Given the description of an element on the screen output the (x, y) to click on. 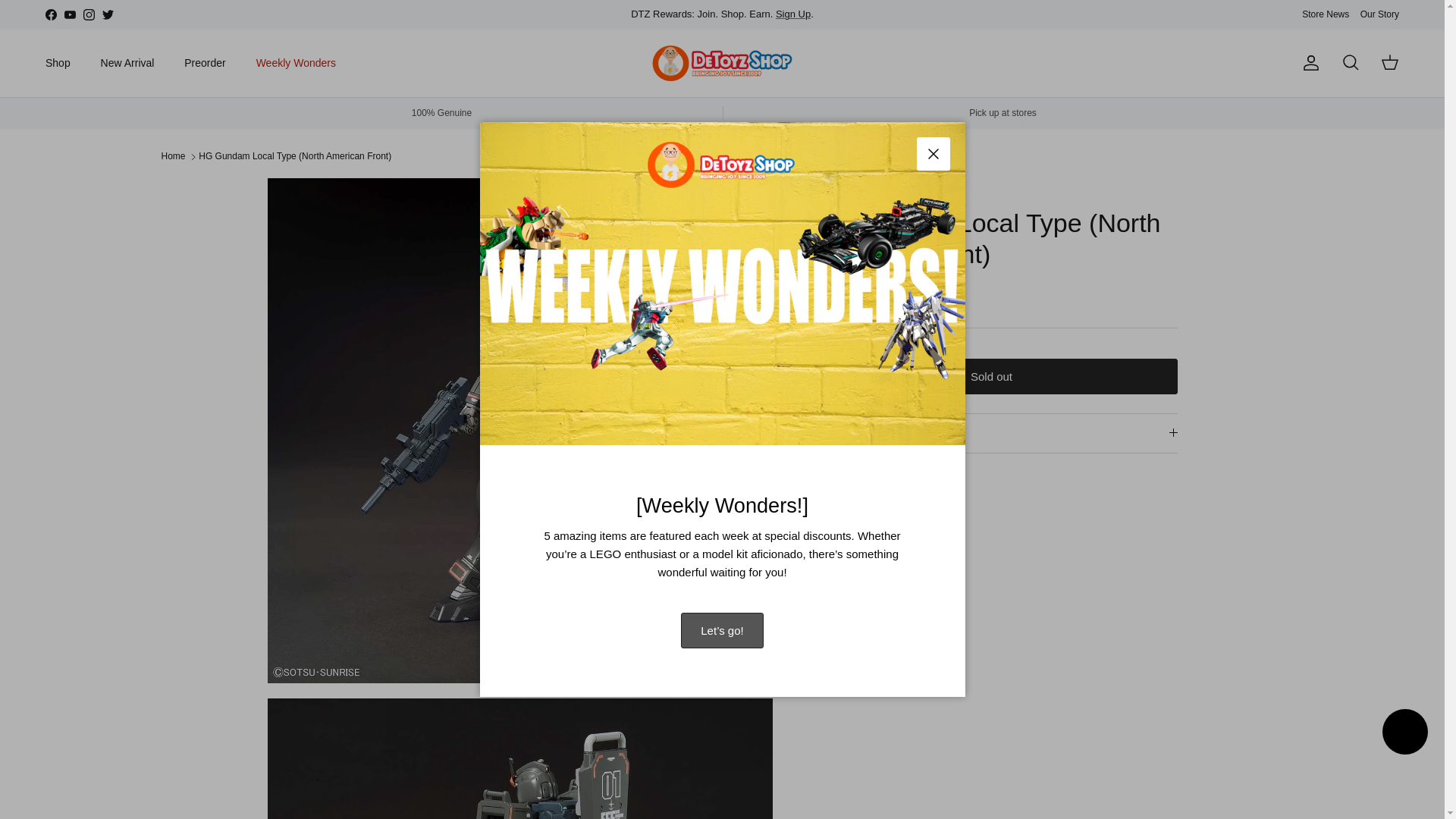
Tweet on X (843, 498)
De Toyz Shop on Twitter (107, 14)
Facebook (50, 14)
De Toyz Shop on Instagram (88, 14)
New Arrival (127, 62)
Preorder (204, 62)
Pin on Pinterest (881, 498)
Account Sign in (793, 13)
De Toyz Shop (722, 63)
Our Story (1379, 13)
Instagram (88, 14)
Store News (1325, 13)
De Toyz Shop on YouTube (69, 14)
Share on Facebook (862, 498)
Sign Up (793, 13)
